Given the description of an element on the screen output the (x, y) to click on. 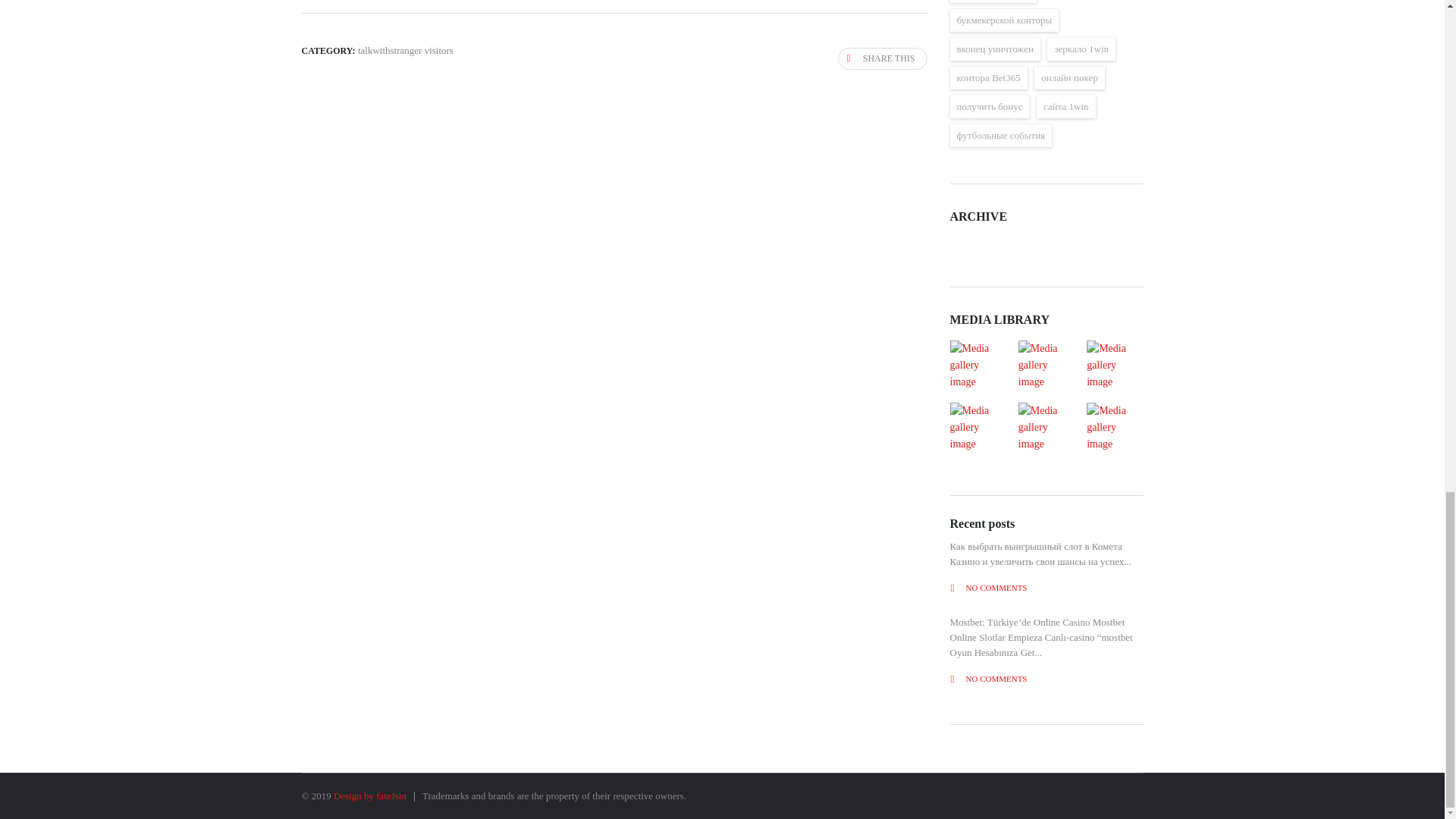
Watch in popup (1114, 365)
Watch in popup (1114, 427)
Watch in popup (1045, 365)
talkwithstranger visitors (405, 50)
Watch in popup (977, 365)
Share this (882, 58)
Watch in popup (977, 427)
Watch in popup (1045, 427)
SHARE THIS (882, 58)
